Given the description of an element on the screen output the (x, y) to click on. 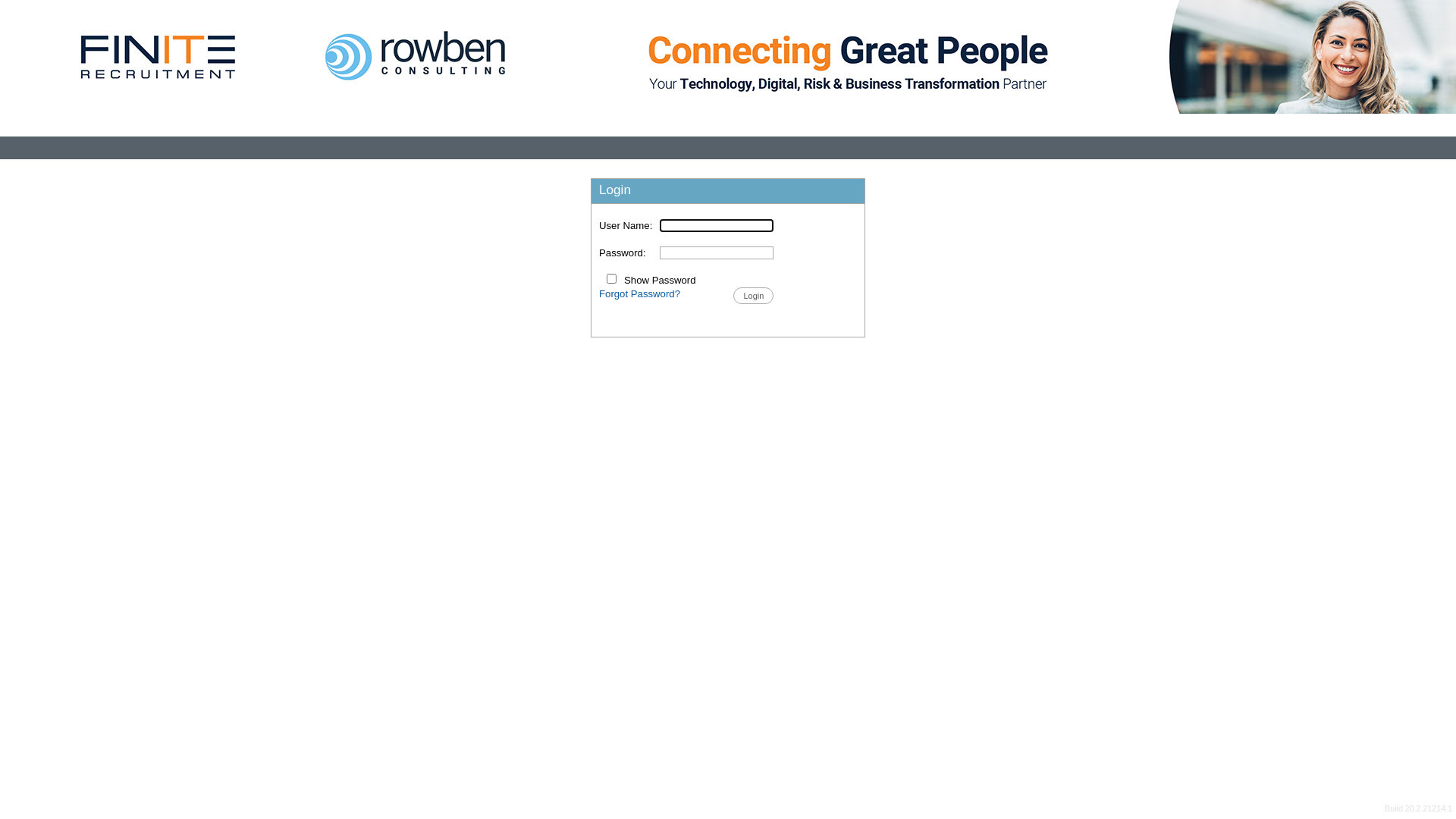
on Element type: text (611, 278)
Forgot Password? Element type: text (639, 293)
Login Element type: text (753, 295)
